Given the description of an element on the screen output the (x, y) to click on. 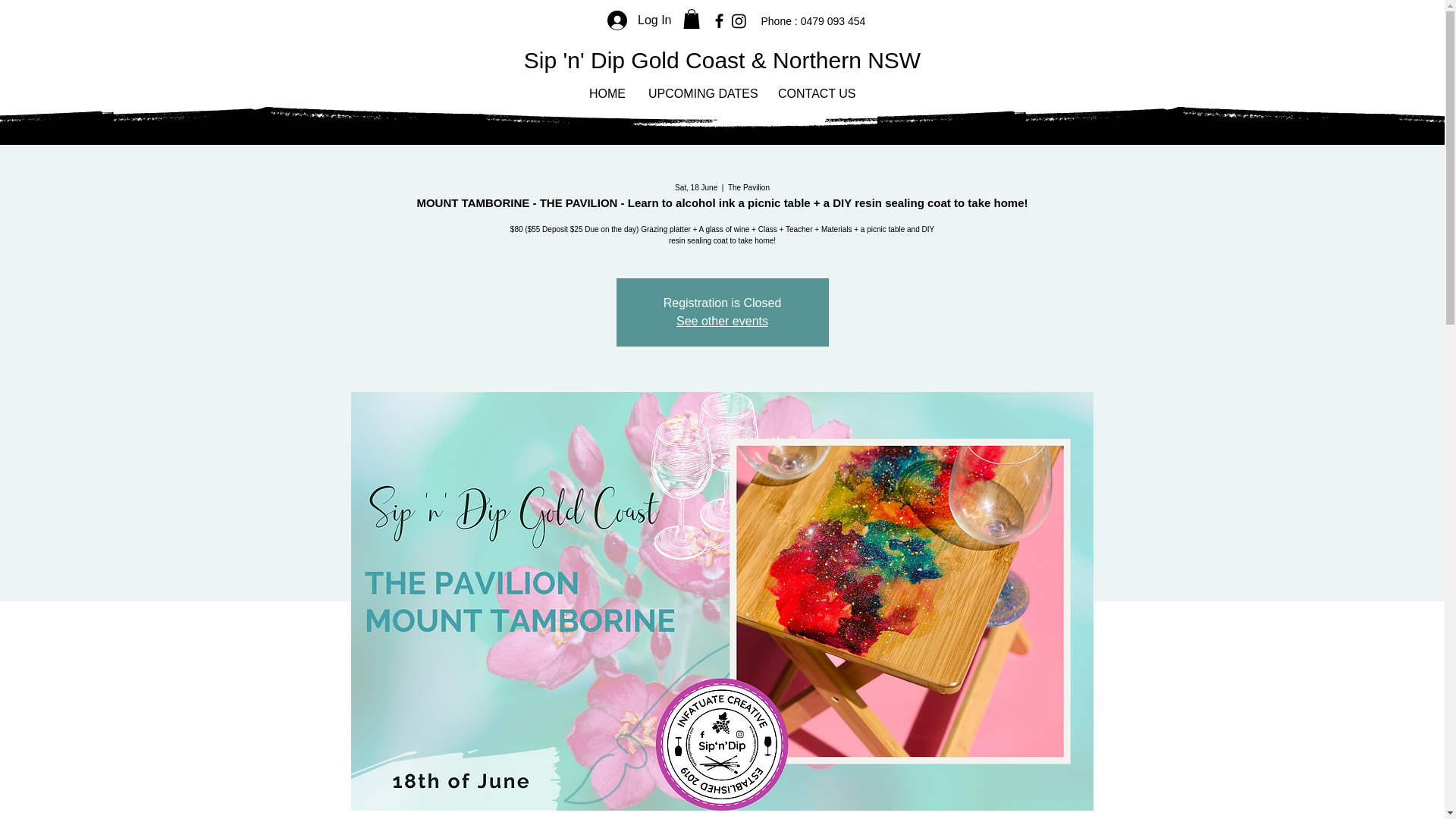
CONTACT US (816, 93)
Log In (638, 20)
UPCOMING DATES (702, 93)
HOME (607, 93)
 0479 093 454 (831, 21)
See other events (722, 320)
